Given the description of an element on the screen output the (x, y) to click on. 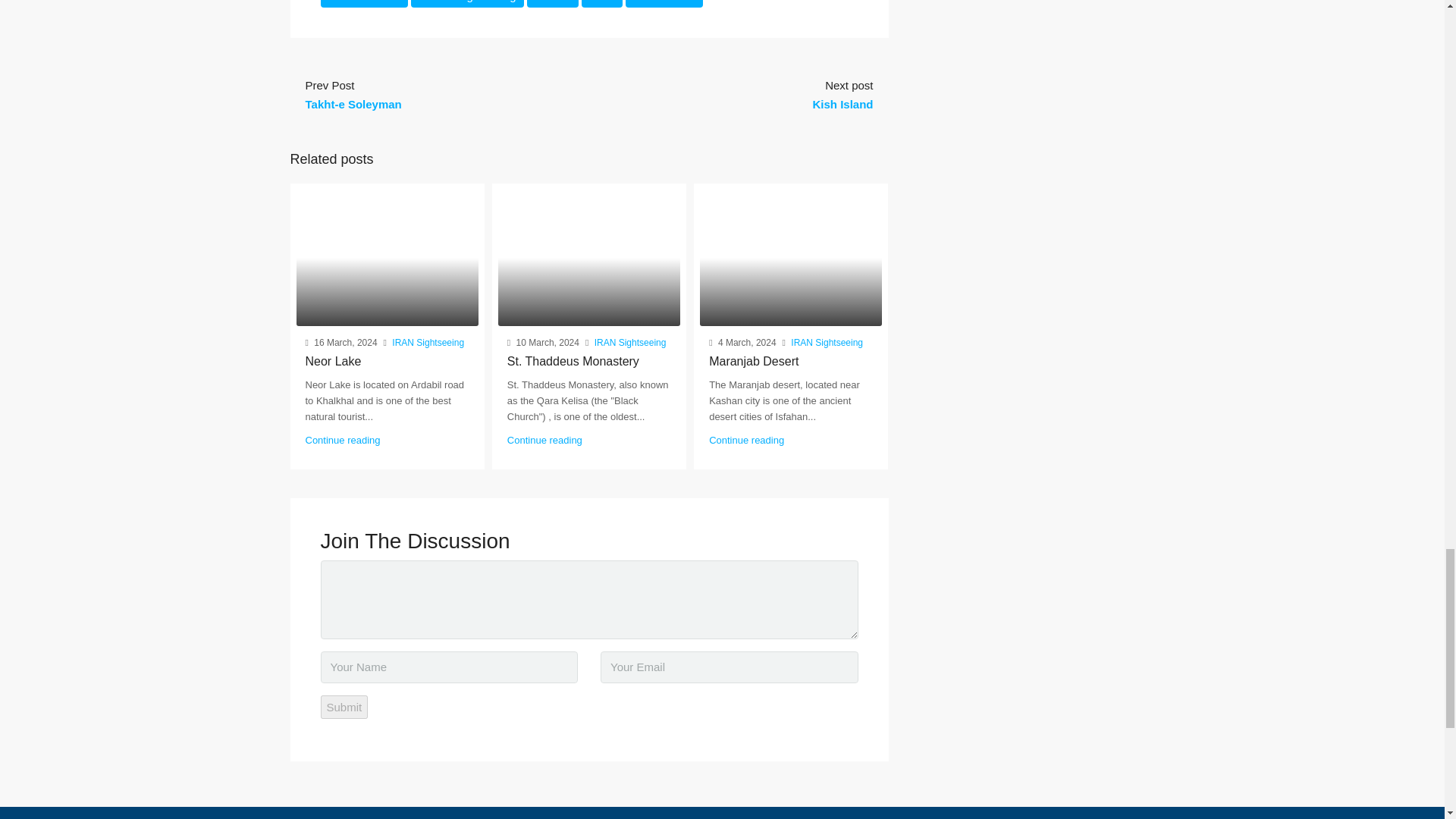
Submit (344, 707)
